Given the description of an element on the screen output the (x, y) to click on. 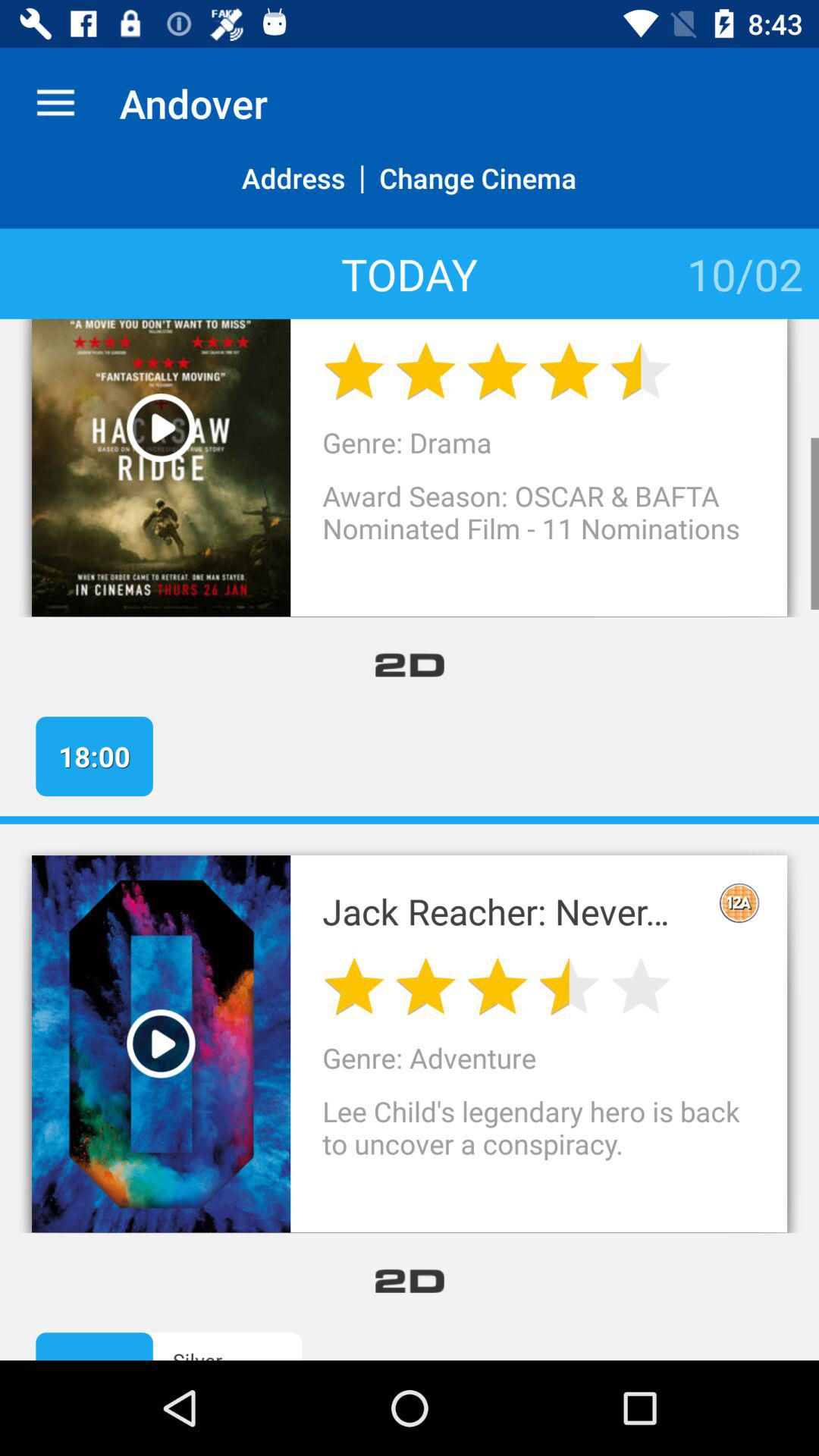
tap the icon to the left of andover (55, 103)
